Given the description of an element on the screen output the (x, y) to click on. 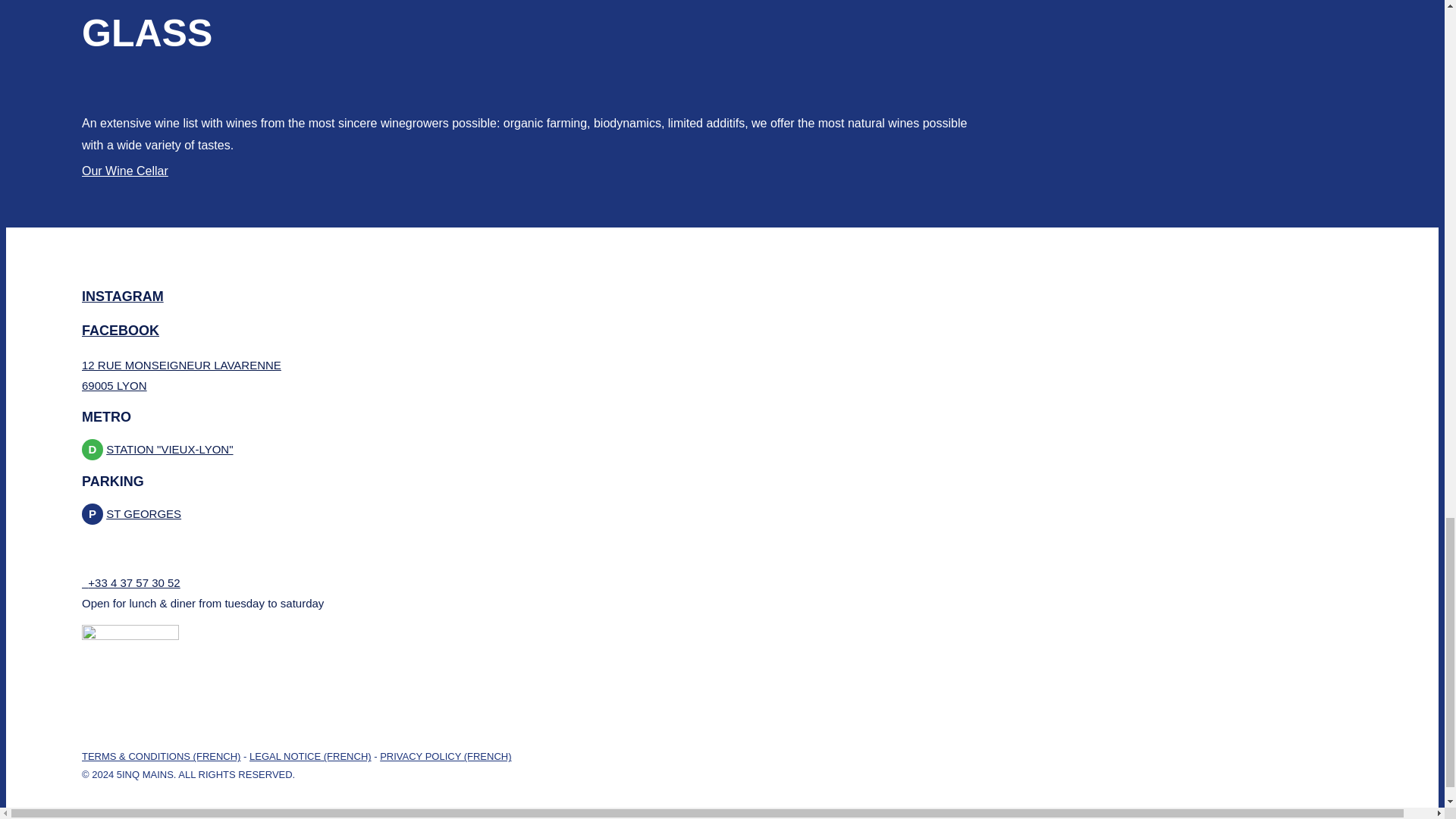
FACEBOOK (119, 330)
Our Wine Cellar (124, 170)
Scroll back to top (1406, 10)
STATION "VIEUX-LYON" (169, 449)
INSTAGRAM (122, 296)
ST GEORGES (143, 513)
